Given the description of an element on the screen output the (x, y) to click on. 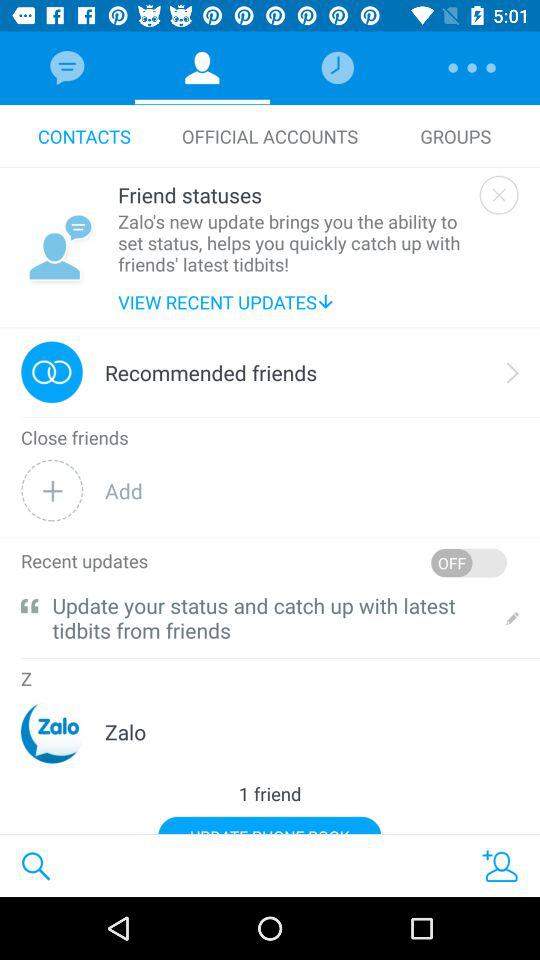
launch the icon to the left of official accounts item (84, 136)
